Given the description of an element on the screen output the (x, y) to click on. 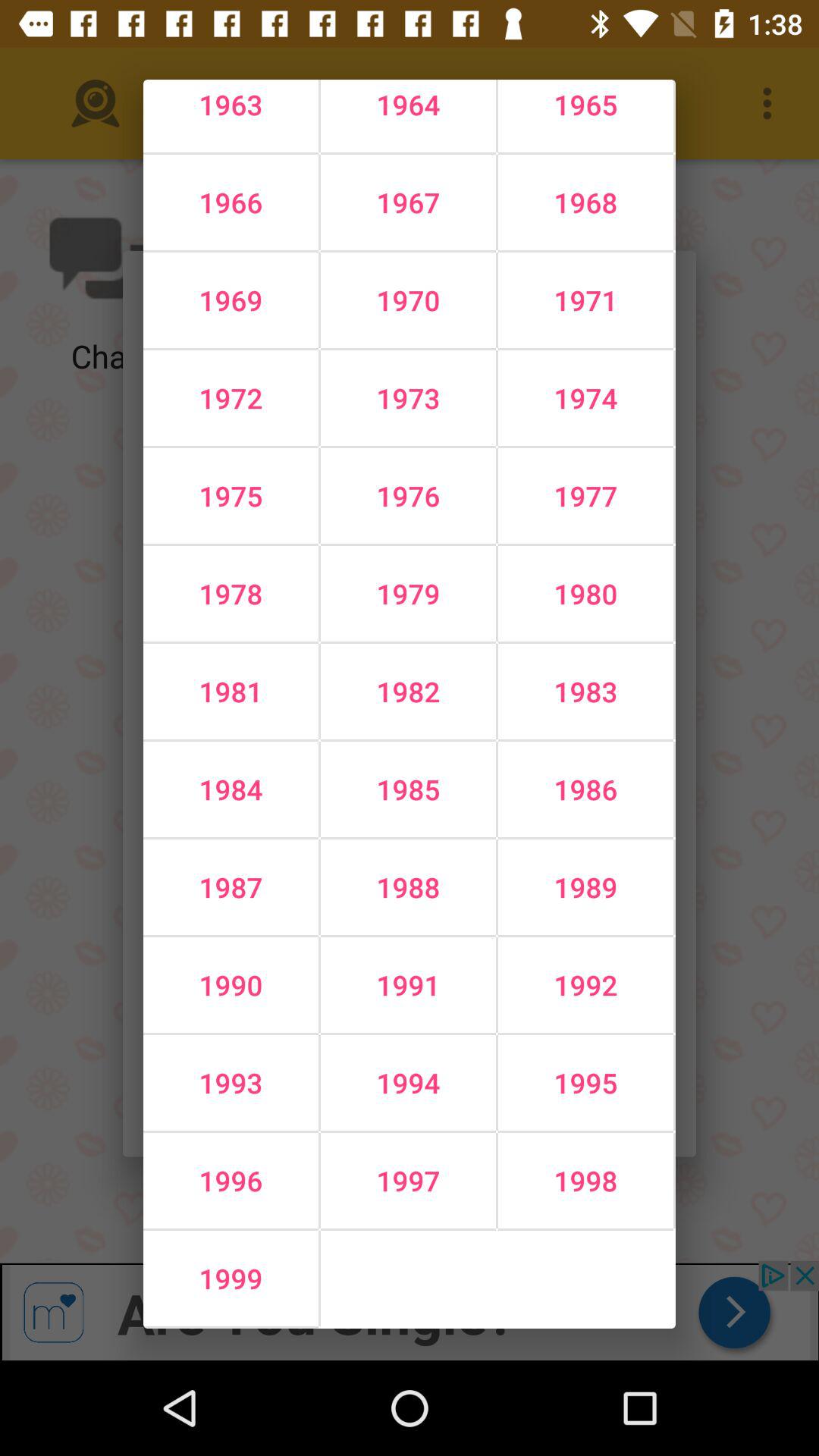
choose item to the right of 1988 icon (585, 984)
